Given the description of an element on the screen output the (x, y) to click on. 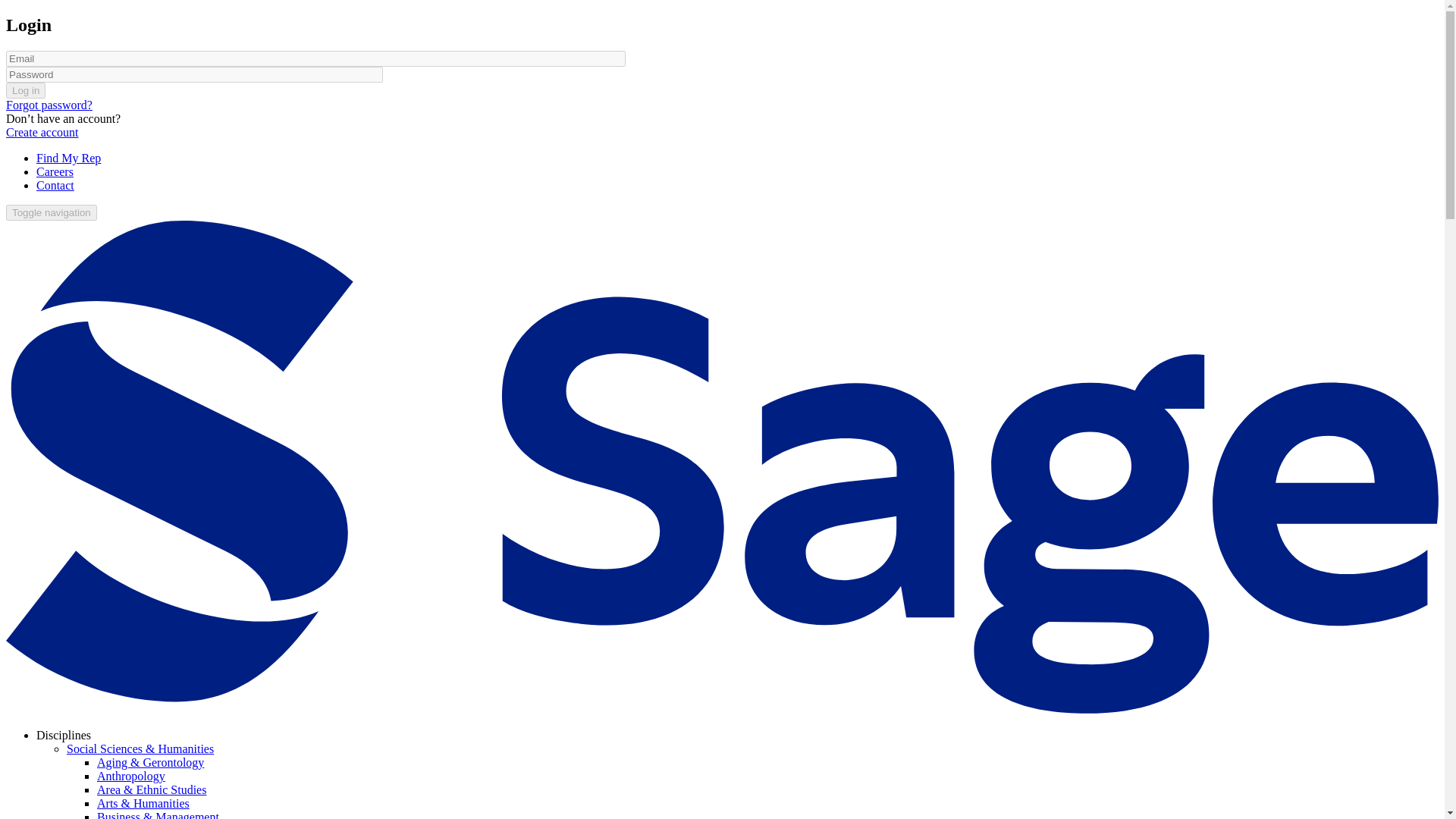
Contact (55, 185)
Log out (55, 198)
Anthropology (131, 775)
Sage: User Logout (55, 198)
Forgot password? (49, 104)
My account for logged in users. (65, 198)
Log in (25, 90)
Log in (25, 90)
Toggle navigation (51, 212)
My account (65, 198)
Sage: User login (52, 185)
Log in (52, 185)
Careers (55, 171)
Find My Rep (68, 157)
